Given the description of an element on the screen output the (x, y) to click on. 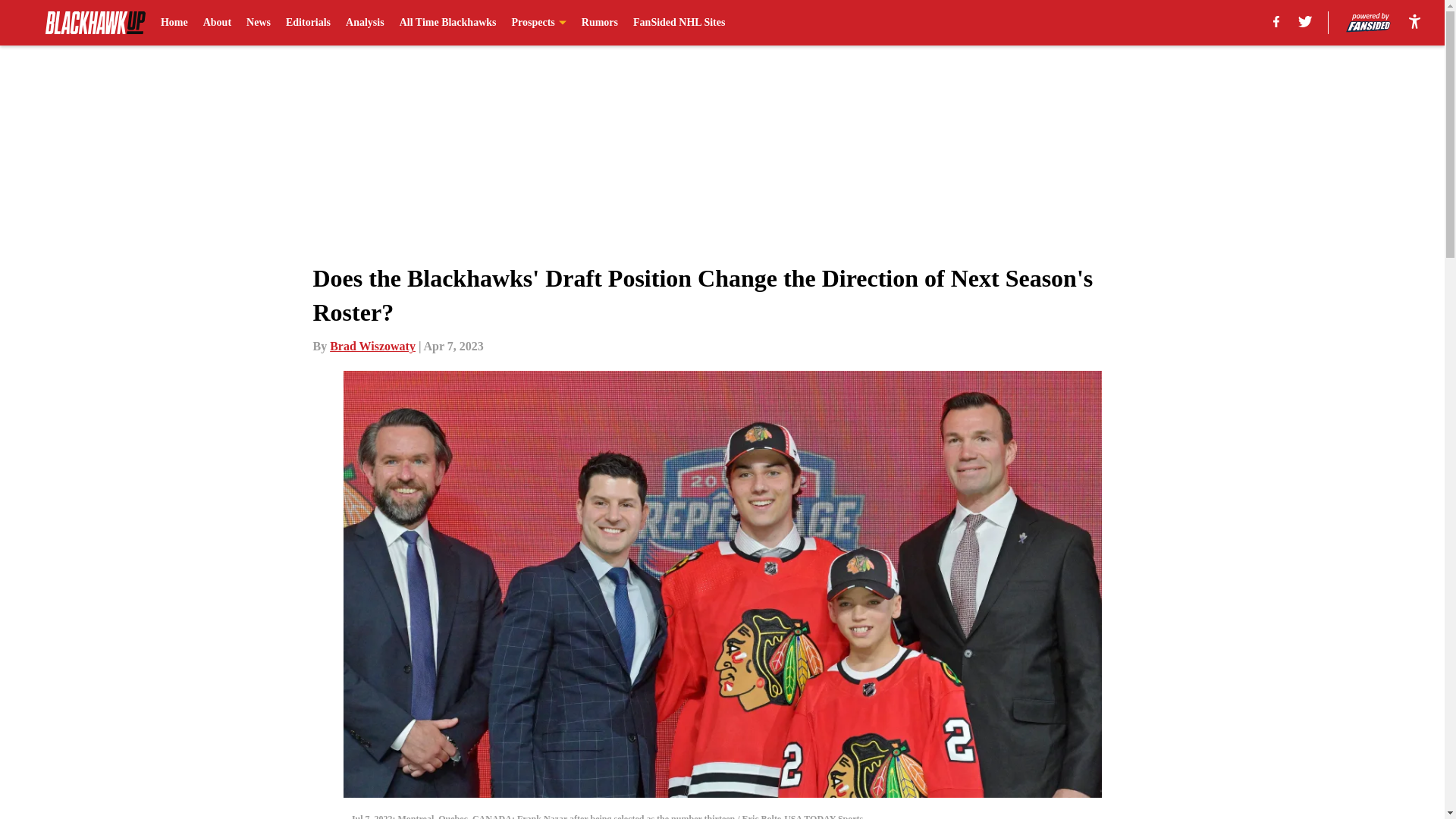
Brad Wiszowaty (372, 345)
Rumors (598, 22)
All Time Blackhawks (447, 22)
Home (173, 22)
Analysis (365, 22)
About (217, 22)
FanSided NHL Sites (679, 22)
News (258, 22)
Editorials (307, 22)
